Given the description of an element on the screen output the (x, y) to click on. 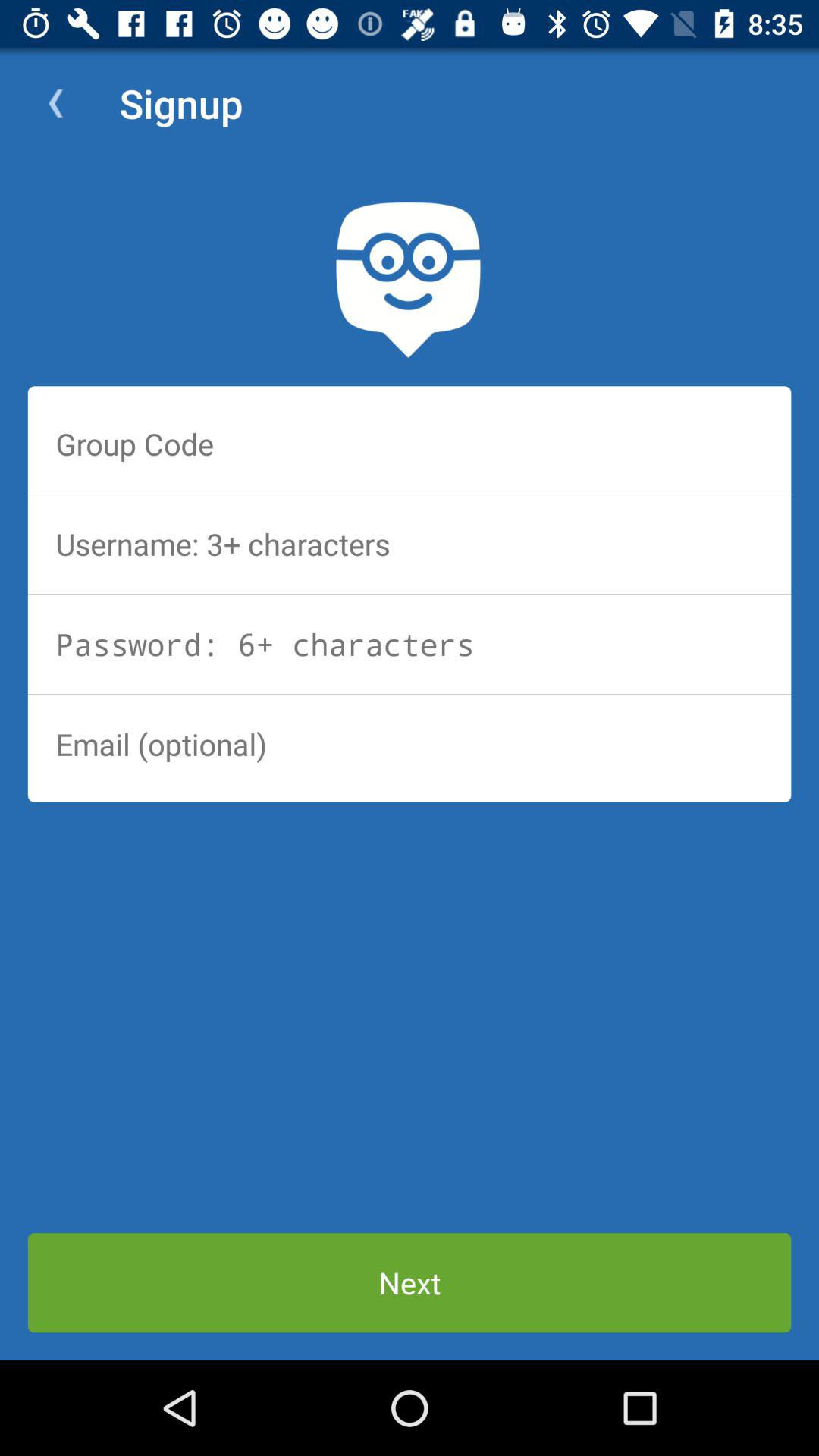
jump until next (409, 1282)
